Given the description of an element on the screen output the (x, y) to click on. 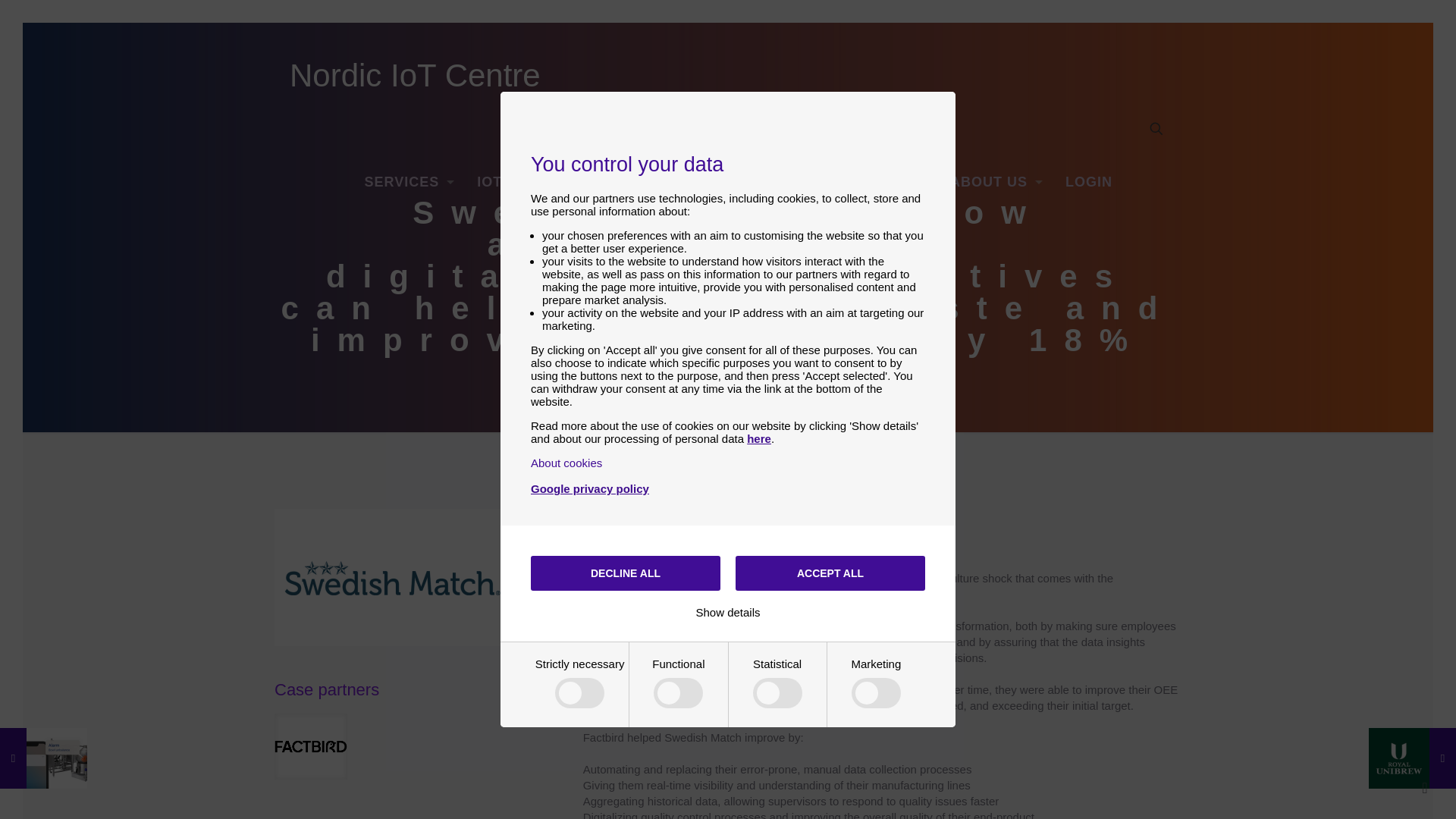
Show details (727, 612)
About cookies (566, 462)
Google privacy policy (590, 488)
here (758, 438)
DECLINE ALL (625, 573)
Nordic IoT Centre (414, 75)
ACCEPT ALL (829, 573)
